Given the description of an element on the screen output the (x, y) to click on. 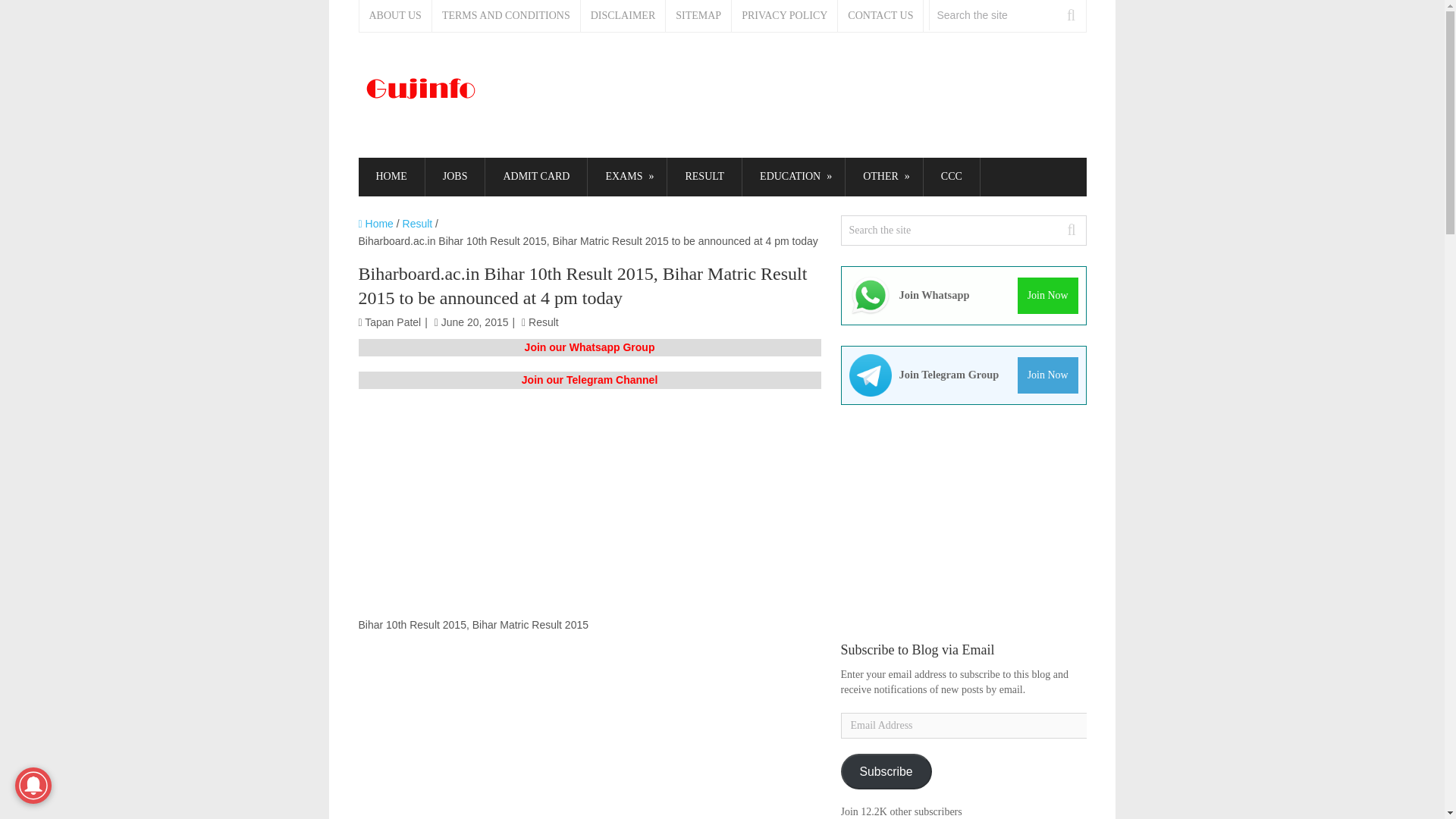
Posts by Tapan Patel (392, 322)
CONTACT US (880, 15)
JOBS (454, 177)
EXAMS (627, 177)
OTHER (884, 177)
EDUCATION (793, 177)
Advertisement (589, 510)
DISCLAIMER (623, 15)
Advertisement (589, 734)
TERMS AND CONDITIONS (506, 15)
RESULT (703, 177)
View all posts in Result (543, 322)
HOME (390, 177)
PRIVACY POLICY (785, 15)
Advertisement (801, 95)
